Given the description of an element on the screen output the (x, y) to click on. 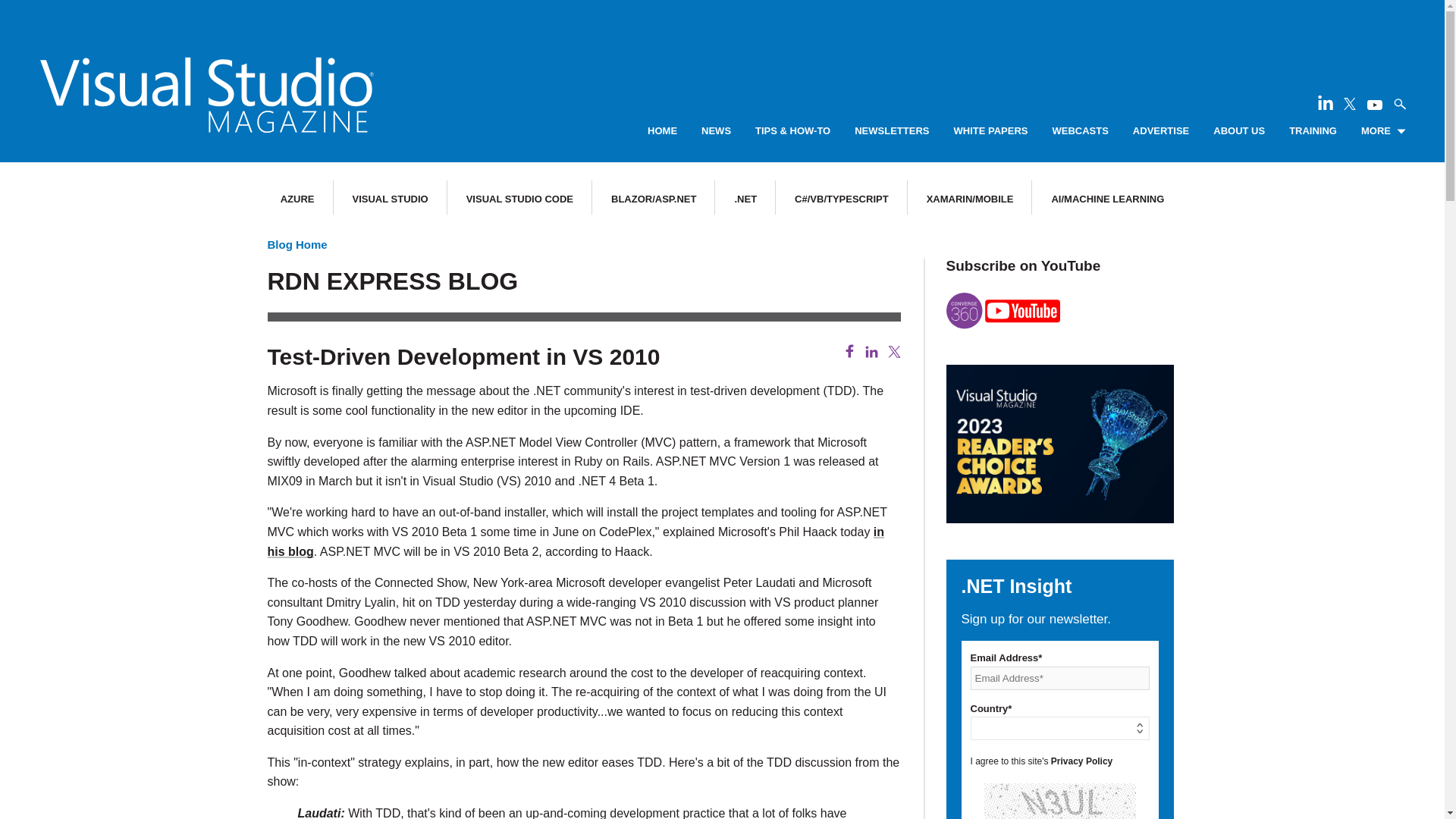
ADVERTISE (1160, 131)
MORE (1383, 131)
HOME (662, 131)
ABOUT US (1238, 131)
.NET (745, 198)
NEWSLETTERS (891, 131)
NEWS (715, 131)
WEBCASTS (1079, 131)
VISUAL STUDIO (390, 198)
WHITE PAPERS (990, 131)
TRAINING (1312, 131)
AZURE (297, 198)
VISUAL STUDIO CODE (519, 198)
